Given the description of an element on the screen output the (x, y) to click on. 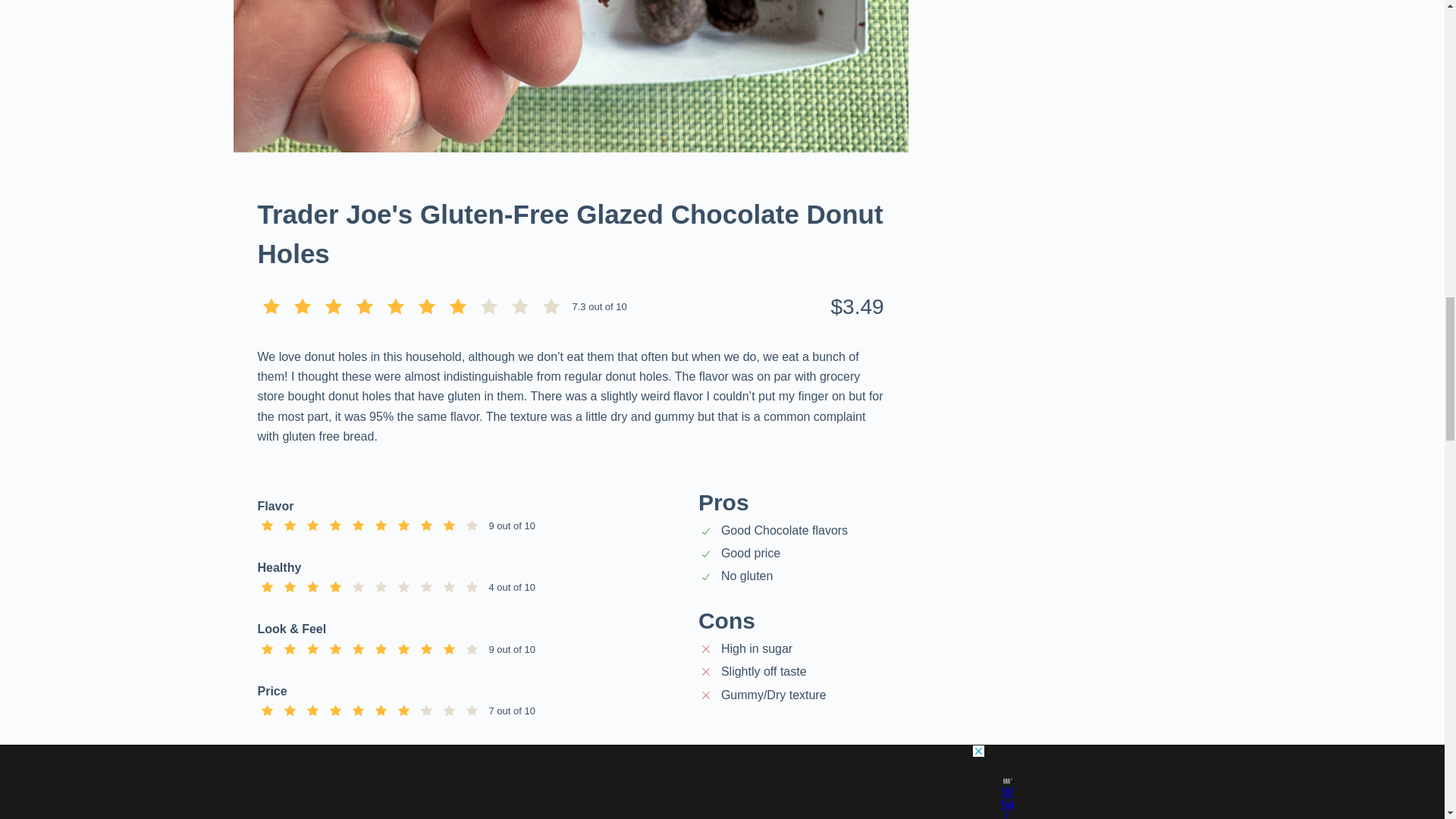
3rd party ad content (571, 796)
